Given the description of an element on the screen output the (x, y) to click on. 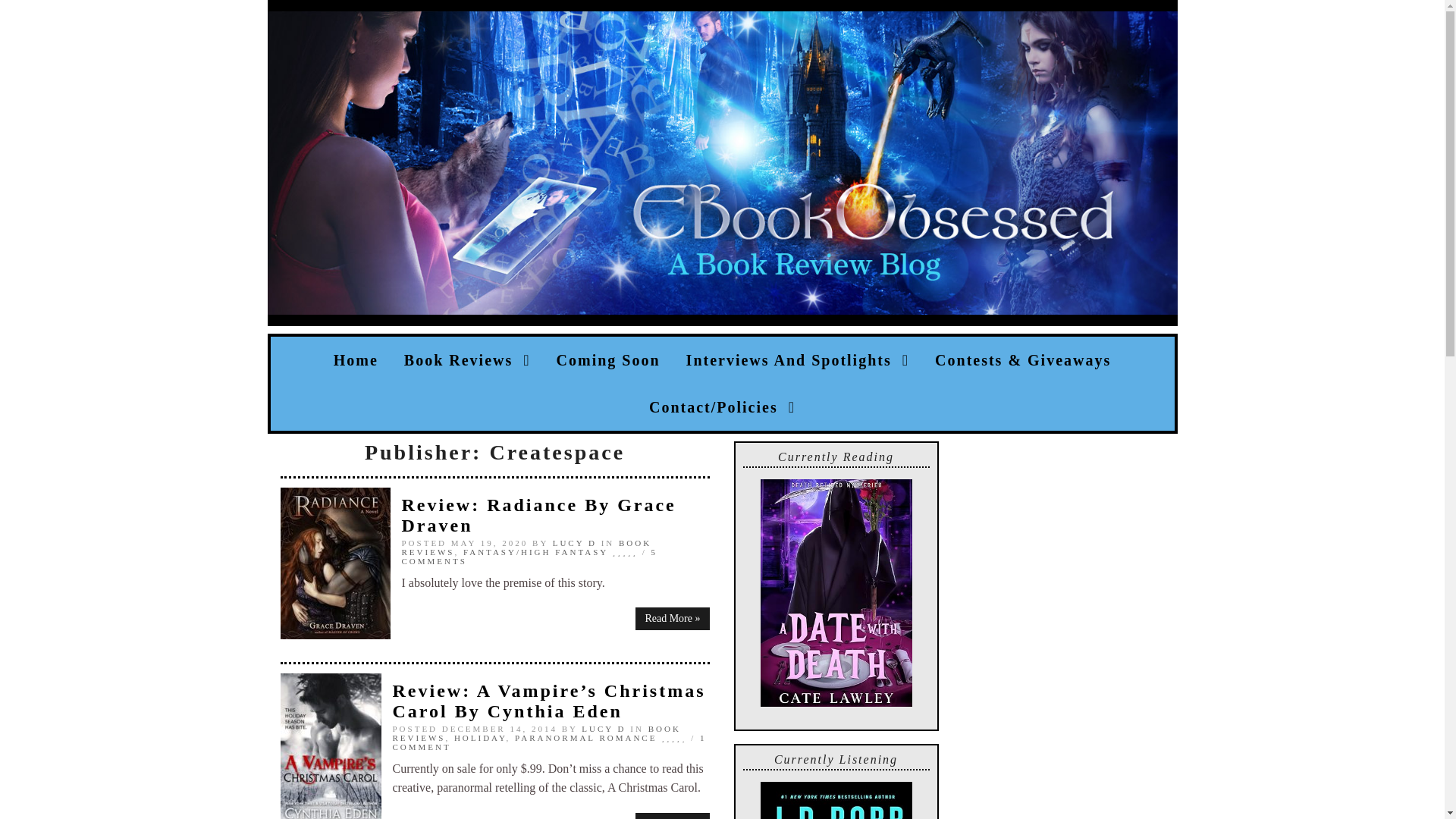
Interviews And Spotlights   (797, 360)
Review: Radiance By Grace Draven (539, 515)
Coming Soon (607, 360)
PARANORMAL ROMANCE (585, 737)
HOLIDAY (480, 737)
View all posts in Book Reviews (537, 732)
View all posts in Paranormal Romance (585, 737)
Home (355, 360)
LUCY D (603, 728)
BOOK REVIEWS (537, 732)
